Given the description of an element on the screen output the (x, y) to click on. 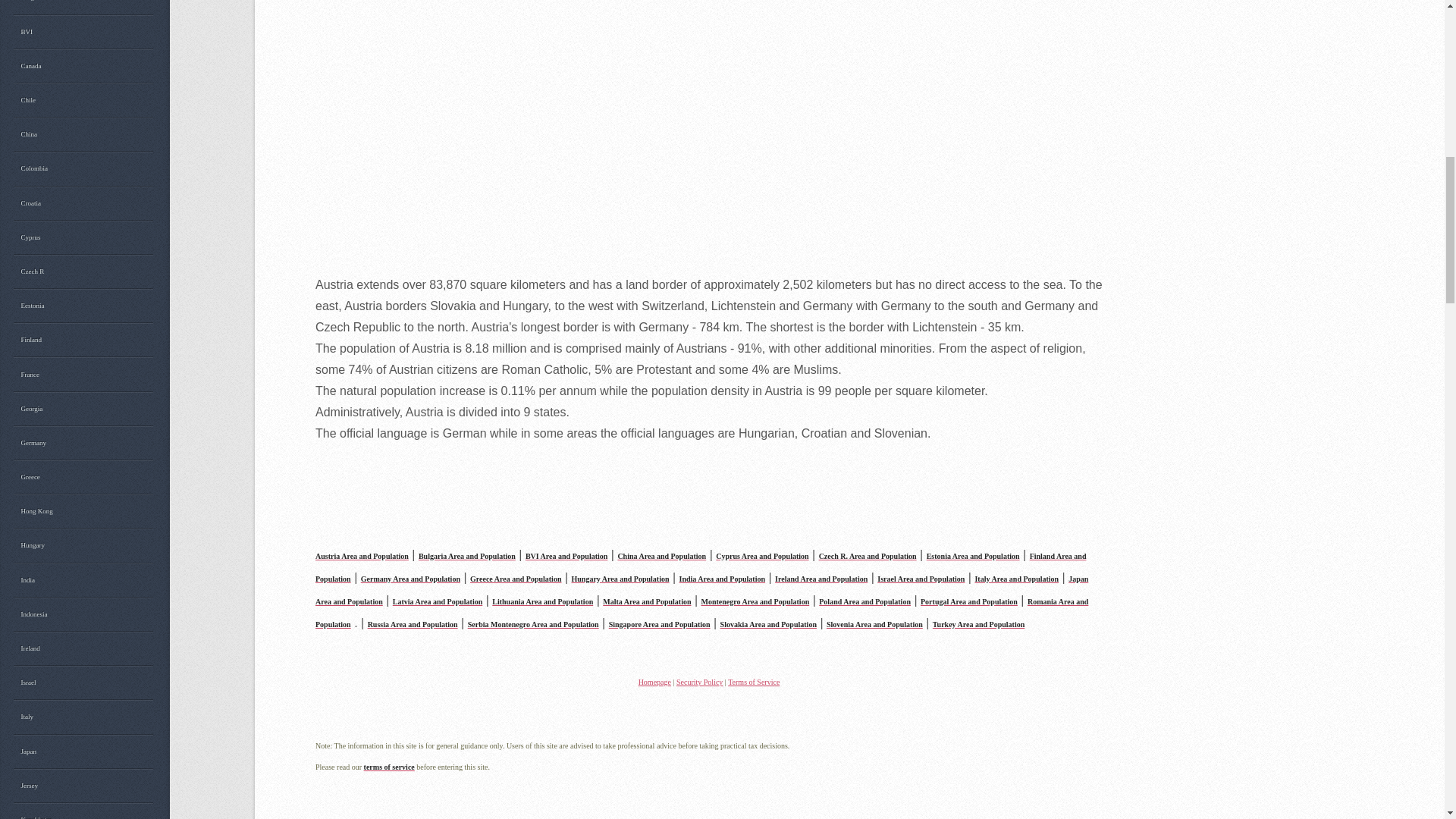
Latvia Population and territory figures (437, 599)
Germany Population and territory figures (410, 576)
Homepage (655, 682)
Bulgaria Population and territory figures (467, 554)
Malta Area and Population (646, 599)
Bulgaria Area and Population (467, 554)
Israel Area and Population (920, 576)
BVI Area and Population (566, 554)
Finland Population and territory figures (700, 565)
Latvia Area and Population (437, 599)
Security Policy (699, 682)
Israel Population and territory figures (920, 576)
Montenegro Area and Population (755, 599)
China Area and Population (661, 554)
Greece Population and territory figures (515, 576)
